Given the description of an element on the screen output the (x, y) to click on. 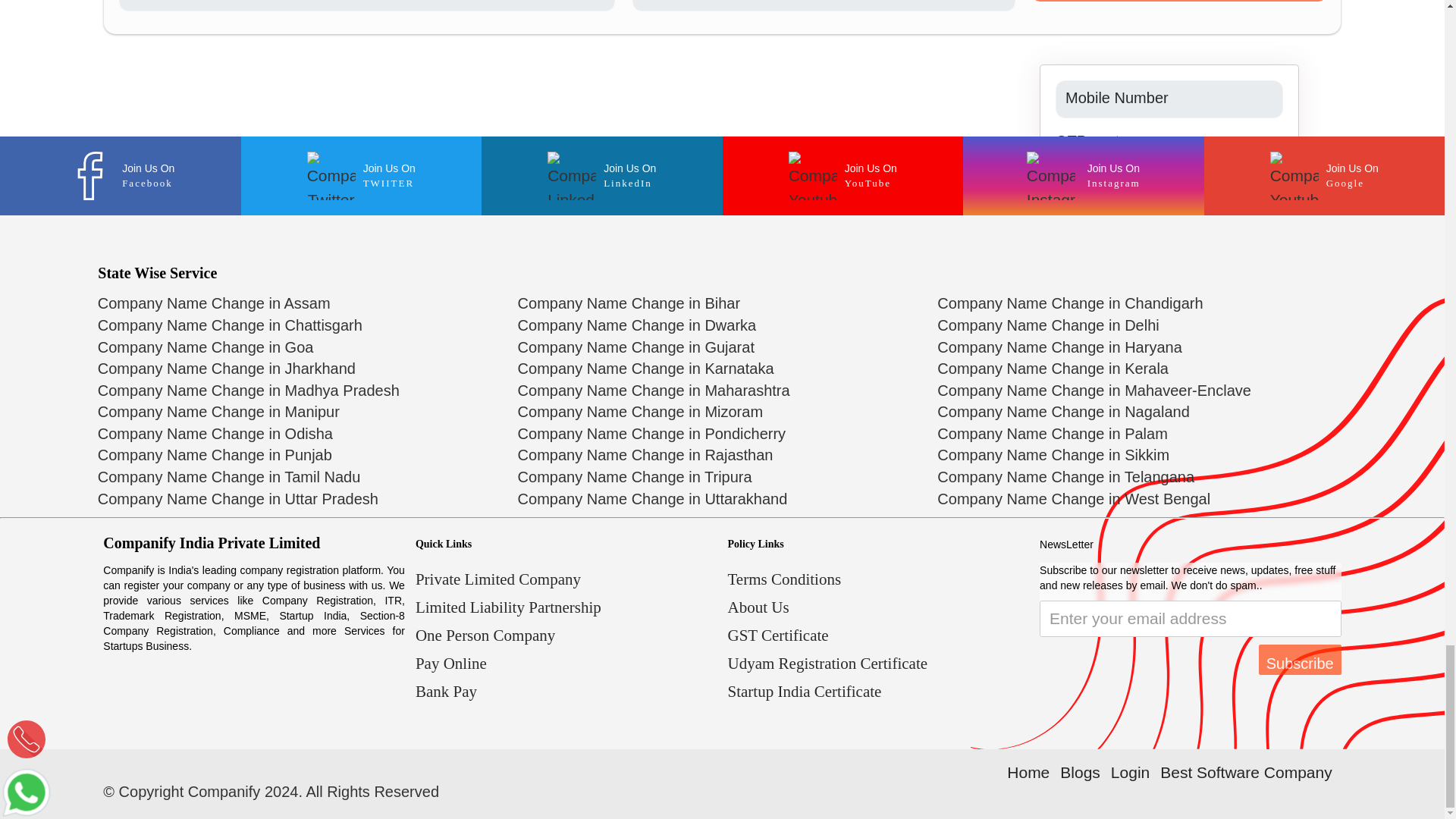
Google (1323, 175)
Twitter (360, 175)
Facebook (120, 175)
Youtube (842, 175)
Instagram (1083, 175)
Linkedin (602, 175)
